Given the description of an element on the screen output the (x, y) to click on. 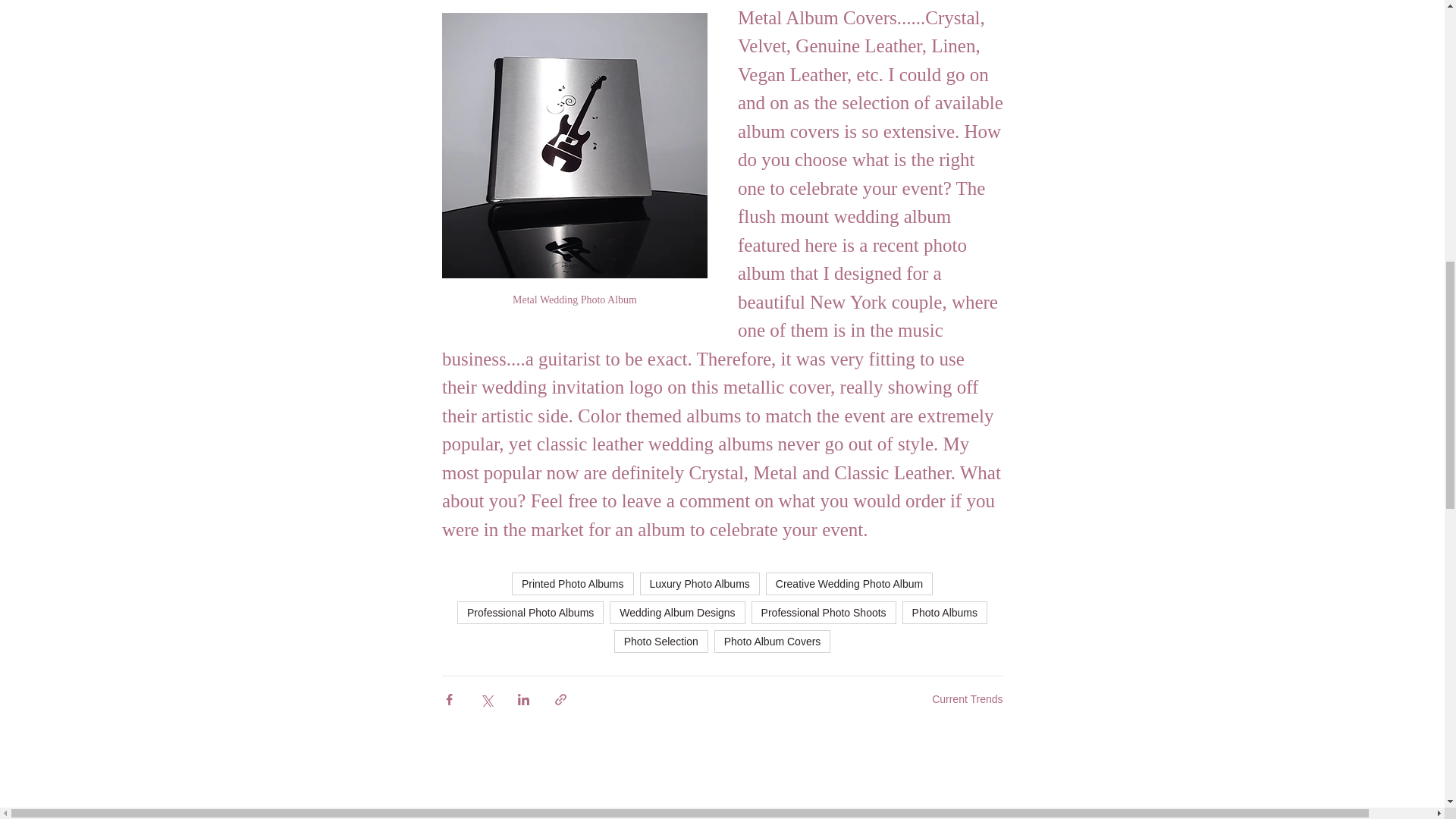
Luxury Photo Albums (700, 583)
Creative Wedding Photo Album (849, 583)
Printed Photo Albums (572, 583)
